Given the description of an element on the screen output the (x, y) to click on. 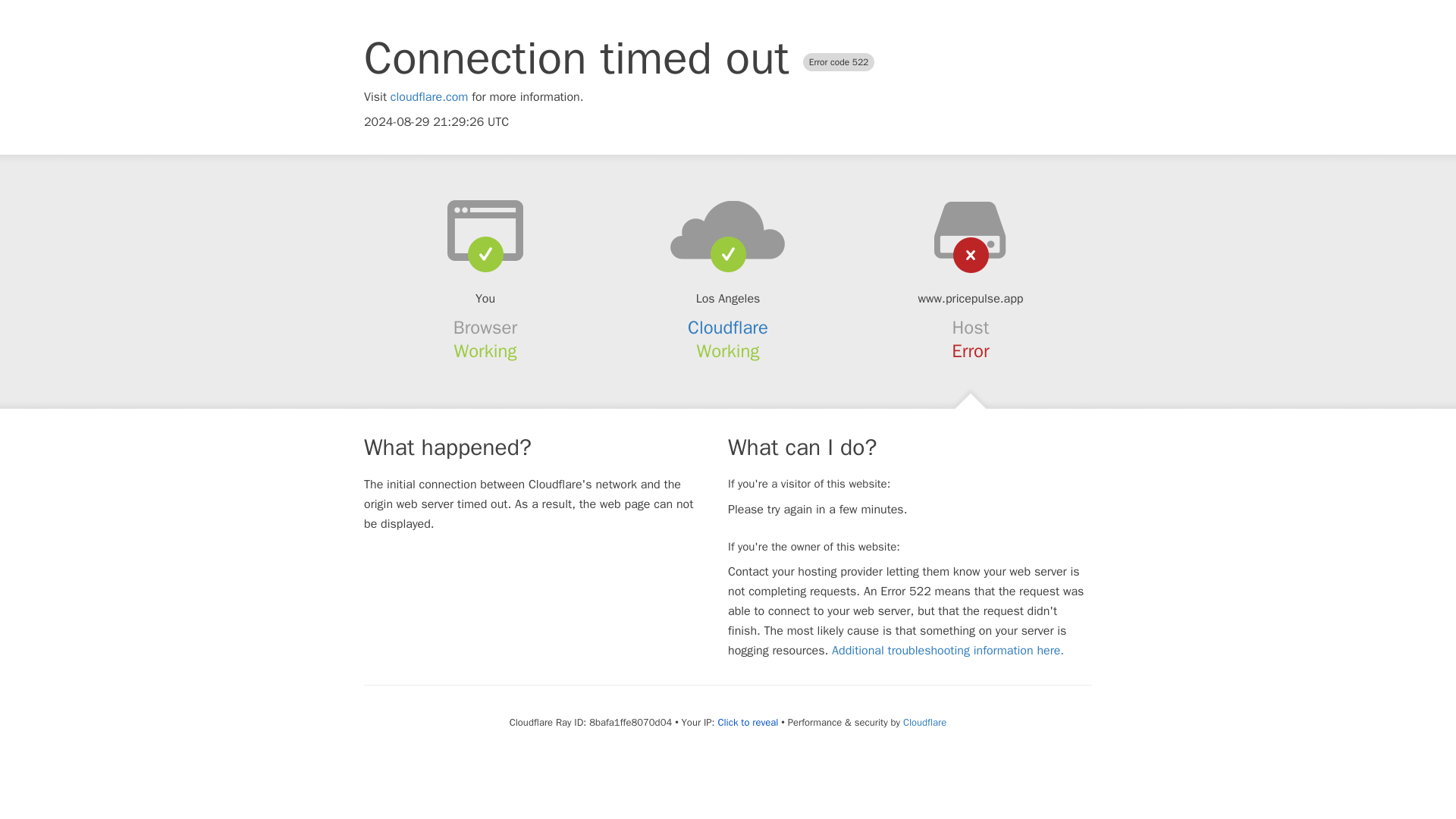
cloudflare.com (429, 96)
Cloudflare (924, 721)
Cloudflare (727, 327)
Additional troubleshooting information here. (947, 650)
Click to reveal (747, 722)
